Given the description of an element on the screen output the (x, y) to click on. 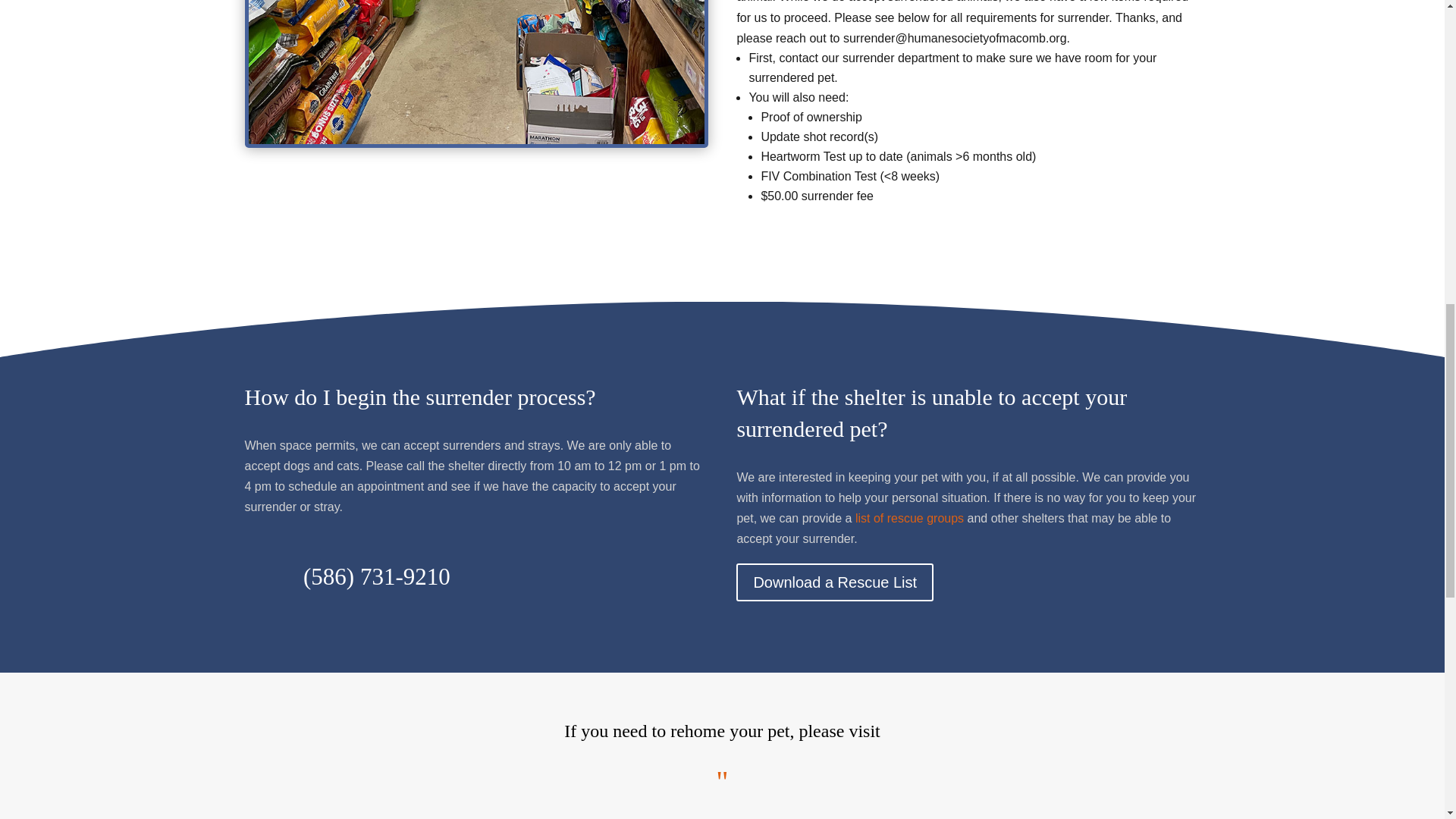
surrender a pet 3099 (476, 72)
list of rescue groups (907, 517)
Download a Rescue List (834, 582)
